Given the description of an element on the screen output the (x, y) to click on. 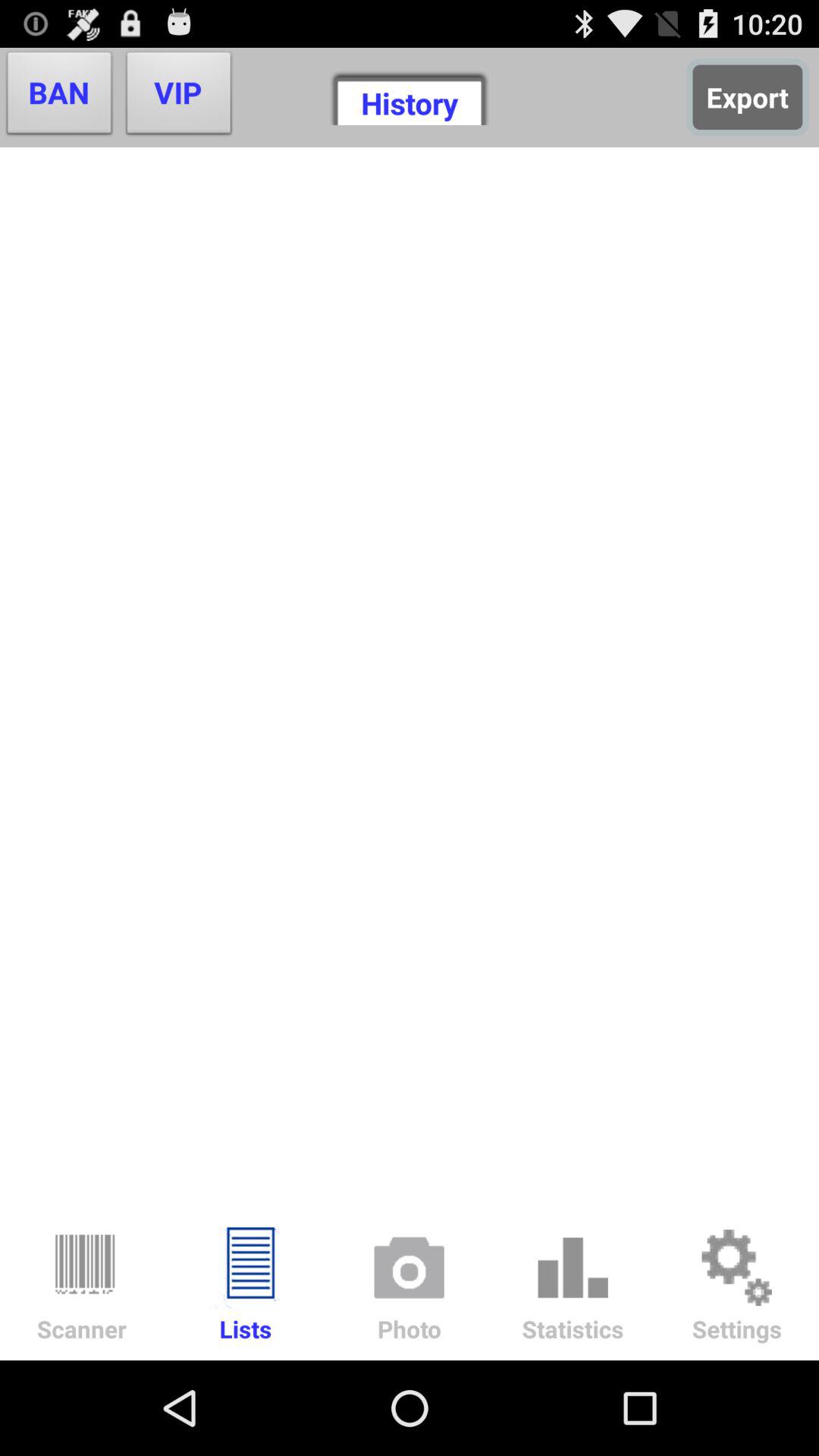
choose the item next to ban (178, 97)
